Given the description of an element on the screen output the (x, y) to click on. 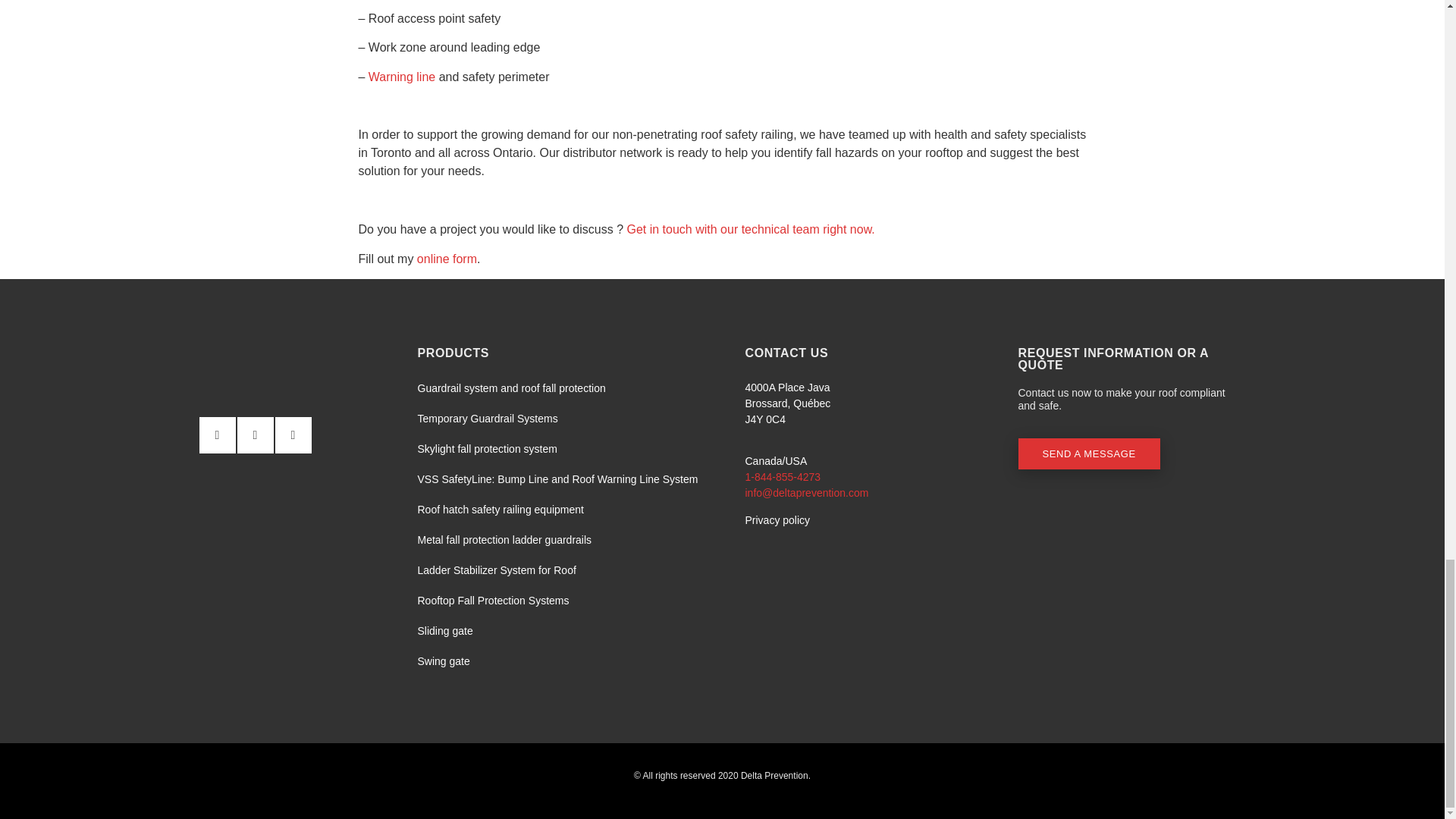
VSS SafetyLine: Bump Line and Roof Warning Line System (557, 479)
Skylight fall protection system (557, 448)
online form (446, 258)
Guardrail system and roof fall protection (557, 388)
Warning line (400, 76)
Temporary Guardrail Systems (557, 418)
Get in touch with our technical team right now. (749, 228)
